Given the description of an element on the screen output the (x, y) to click on. 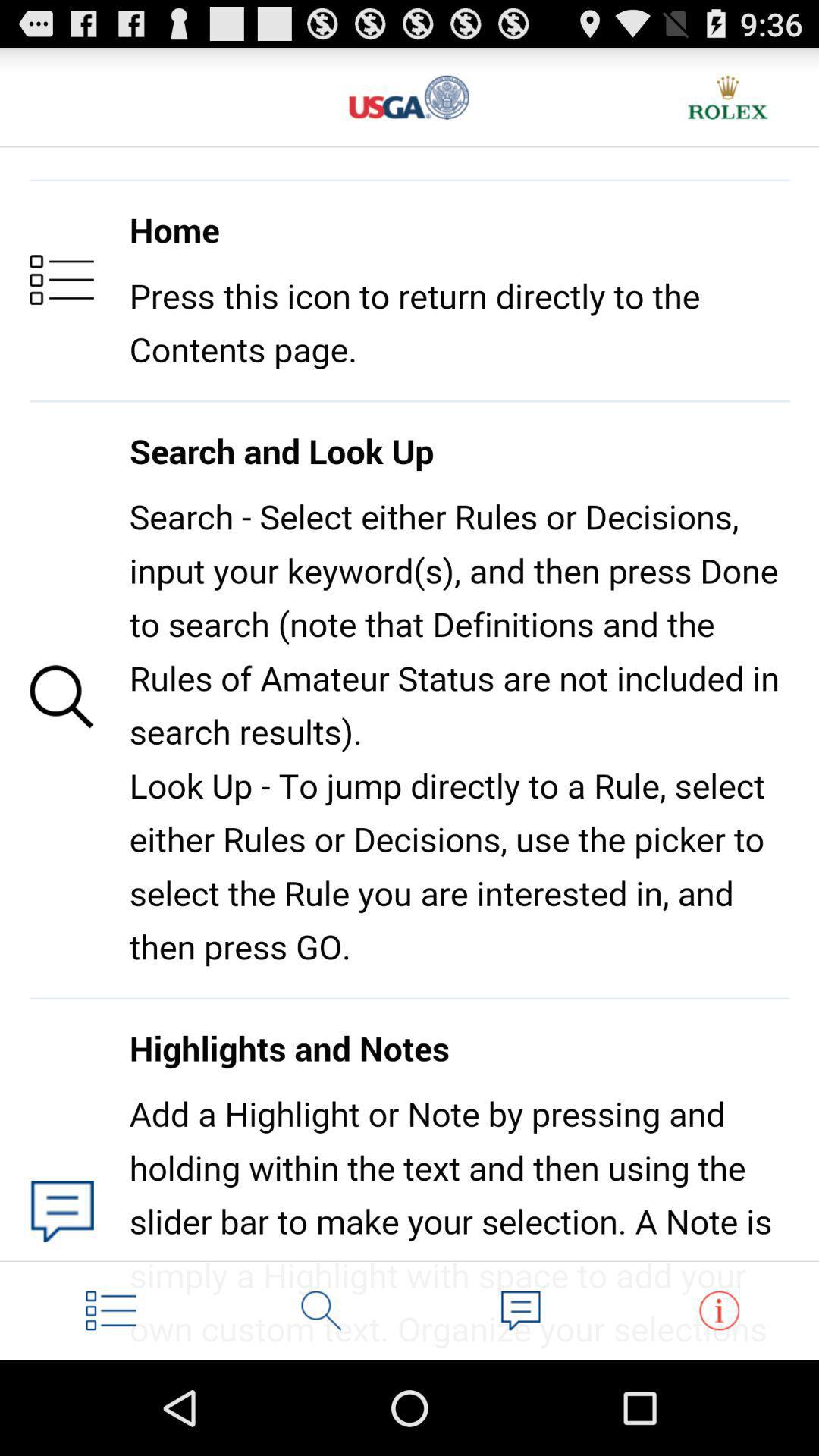
instruction (719, 1310)
